Given the description of an element on the screen output the (x, y) to click on. 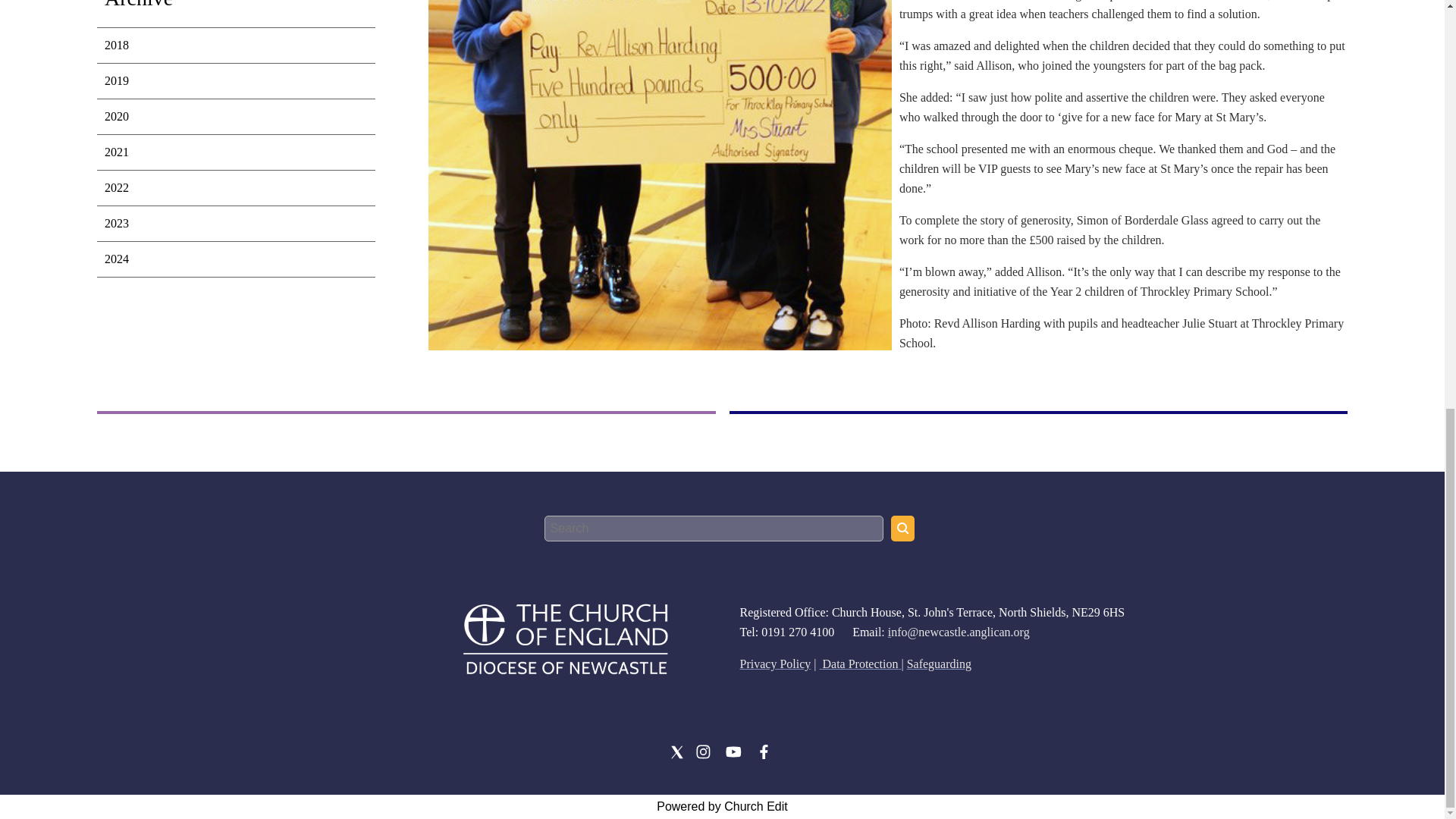
Logo (563, 637)
